Given the description of an element on the screen output the (x, y) to click on. 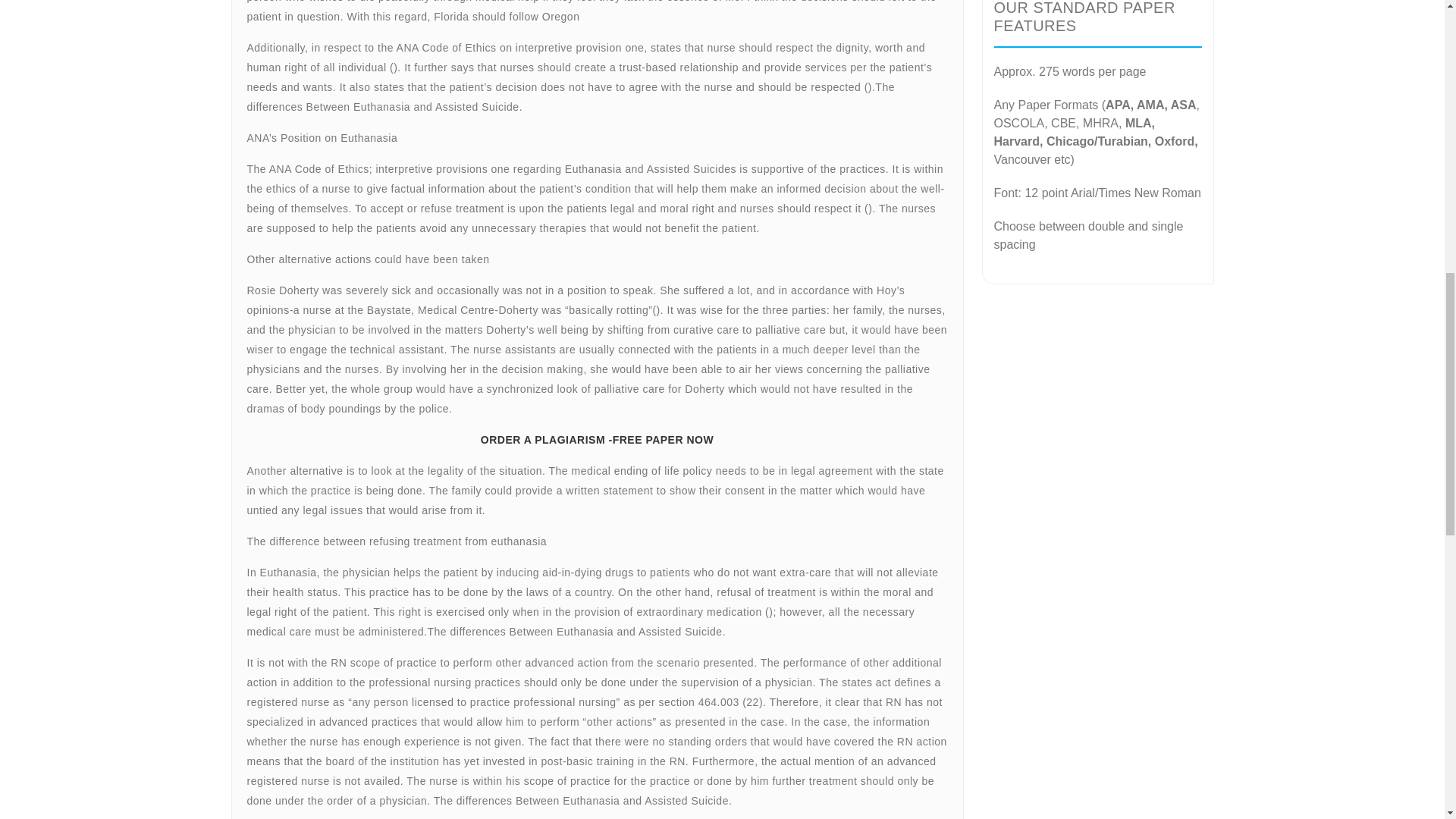
ORDER A PLAGIARISM -FREE PAPER NOW (596, 583)
